Given the description of an element on the screen output the (x, y) to click on. 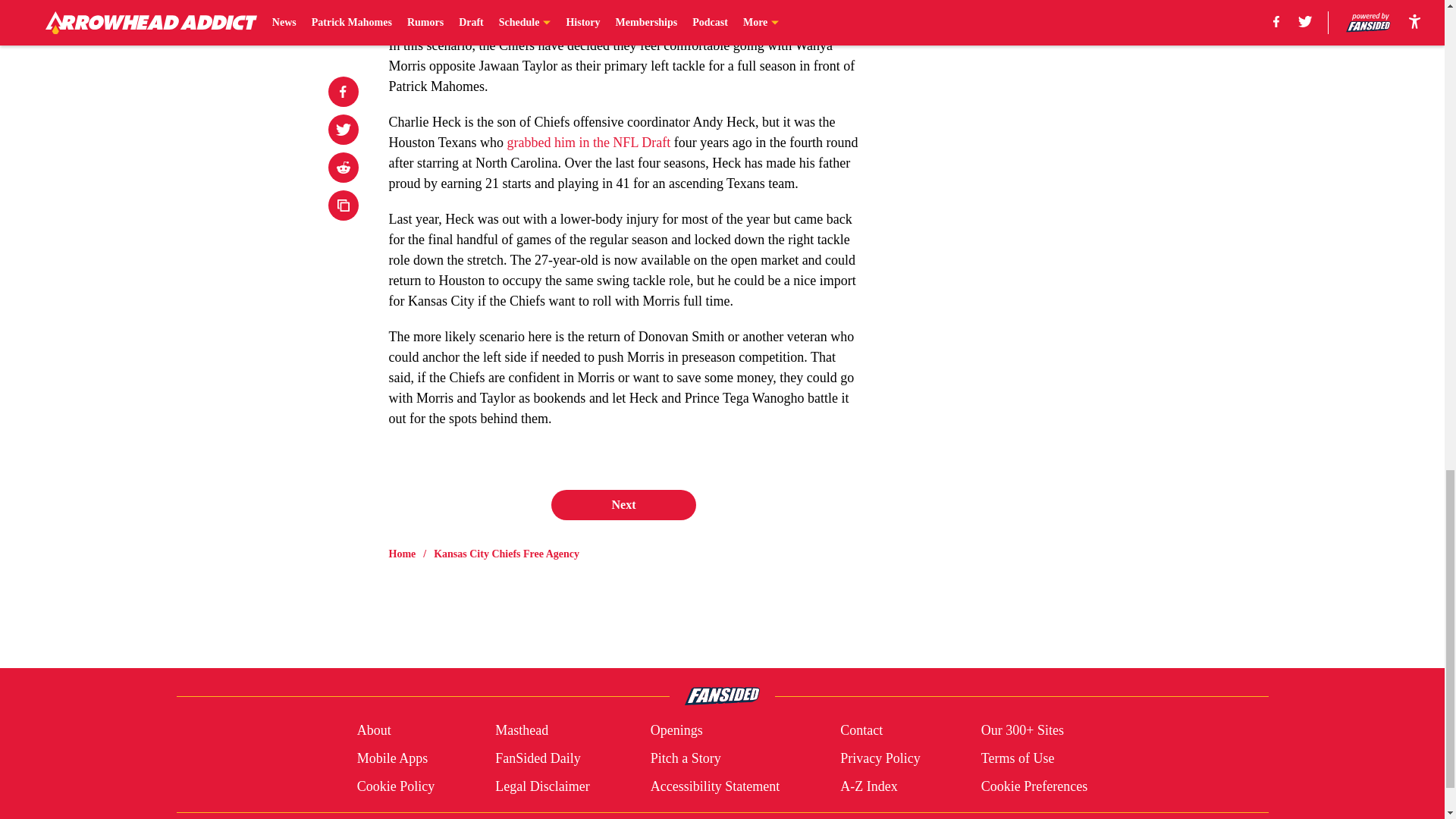
About (373, 730)
Kansas City Chiefs Free Agency (506, 554)
Home (401, 554)
Contact (861, 730)
Next (622, 504)
Masthead (521, 730)
grabbed him in the NFL Draft (587, 142)
Openings (676, 730)
